Given the description of an element on the screen output the (x, y) to click on. 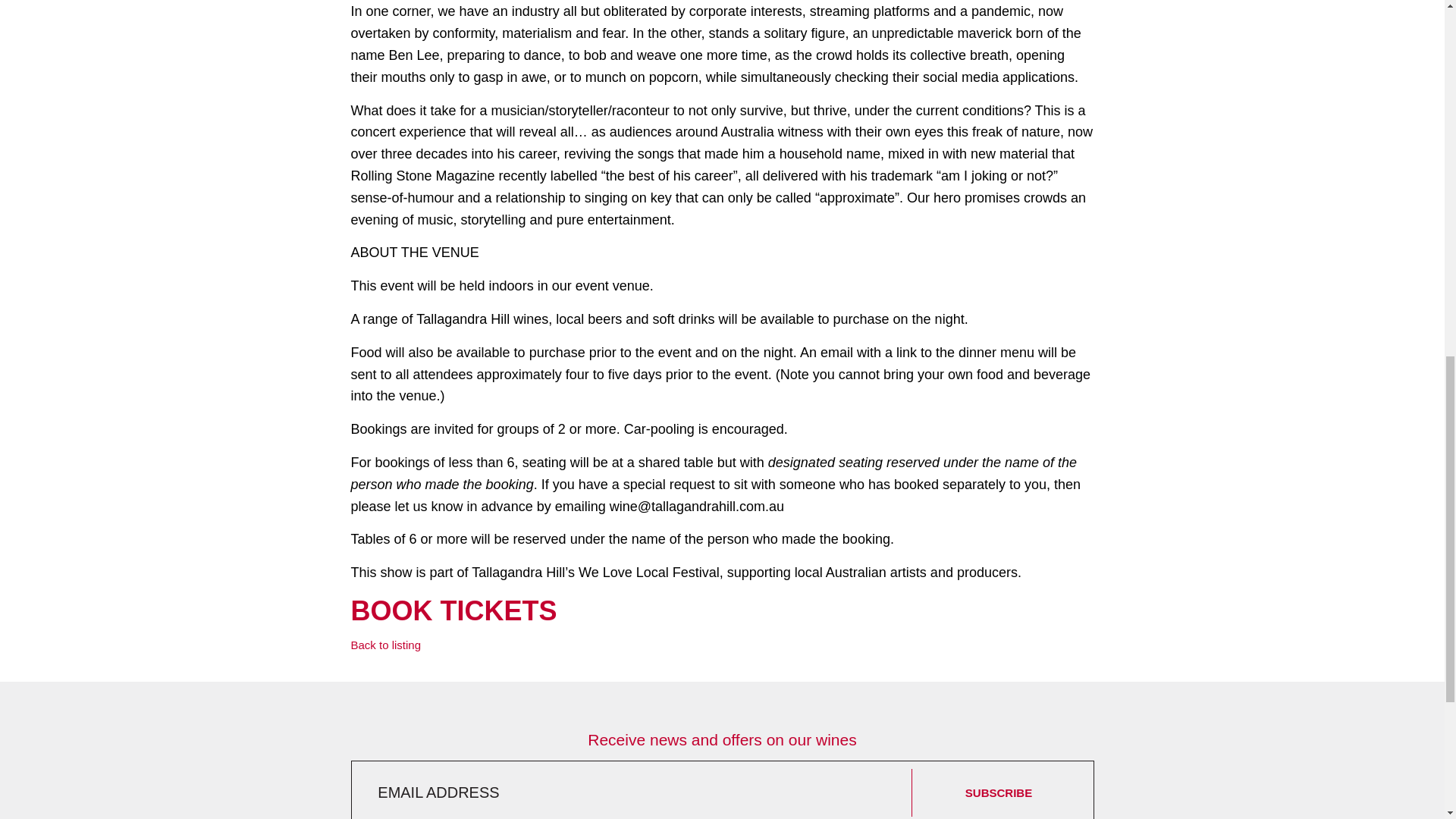
Back to listing (385, 644)
SUBSCRIBE (998, 792)
BOOK TICKETS (453, 610)
